Given the description of an element on the screen output the (x, y) to click on. 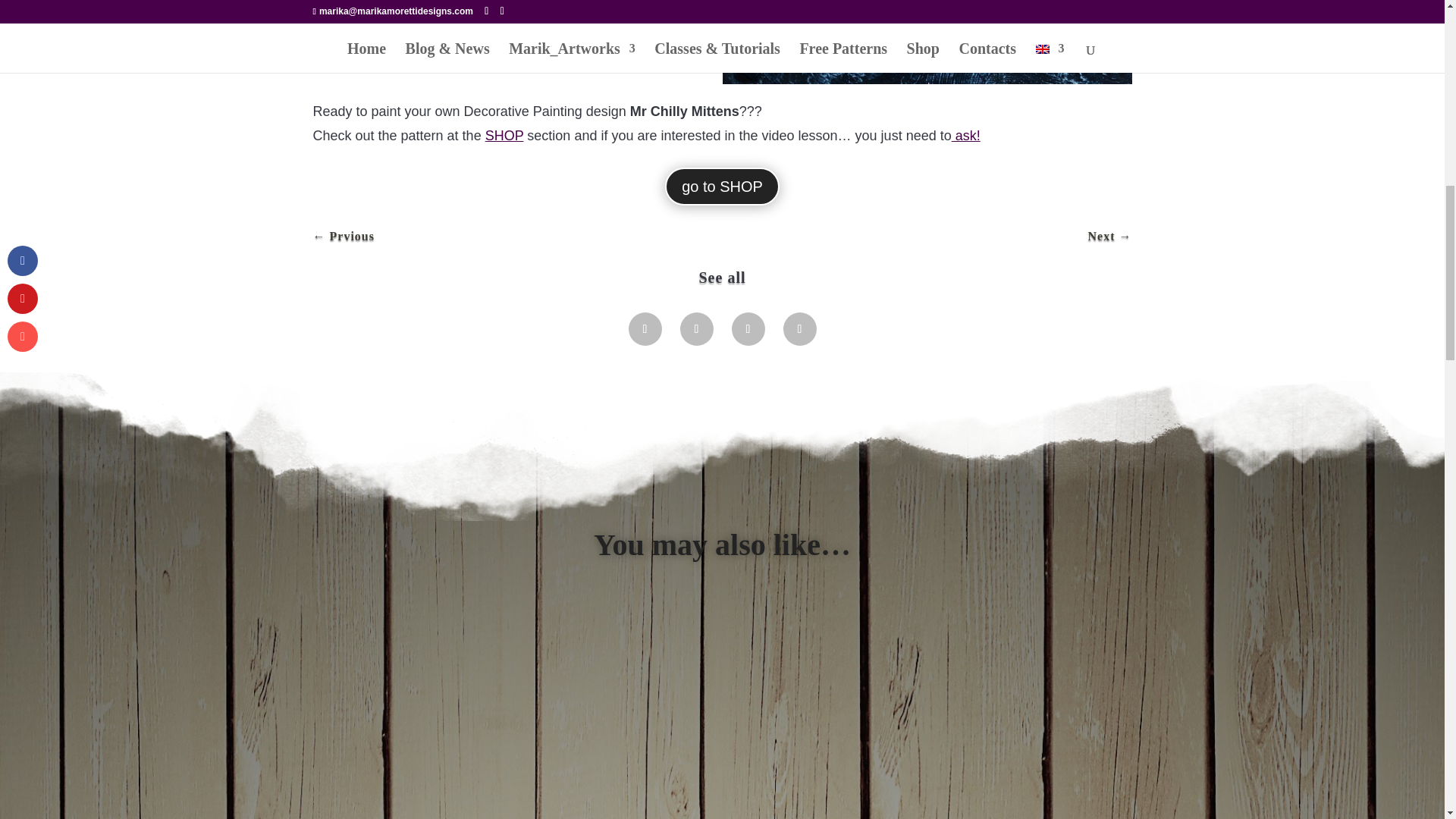
Follow on Pinterest (747, 328)
go to SHOP (721, 185)
how to use the liner brush. (571, 59)
ask! (965, 135)
Follow on Youtube (799, 328)
SHOP (504, 135)
how to create a textured background, (573, 34)
Follow on Facebook (644, 328)
YouTube (373, 34)
Follow on Instagram (696, 328)
how to put color on it (408, 59)
